Given the description of an element on the screen output the (x, y) to click on. 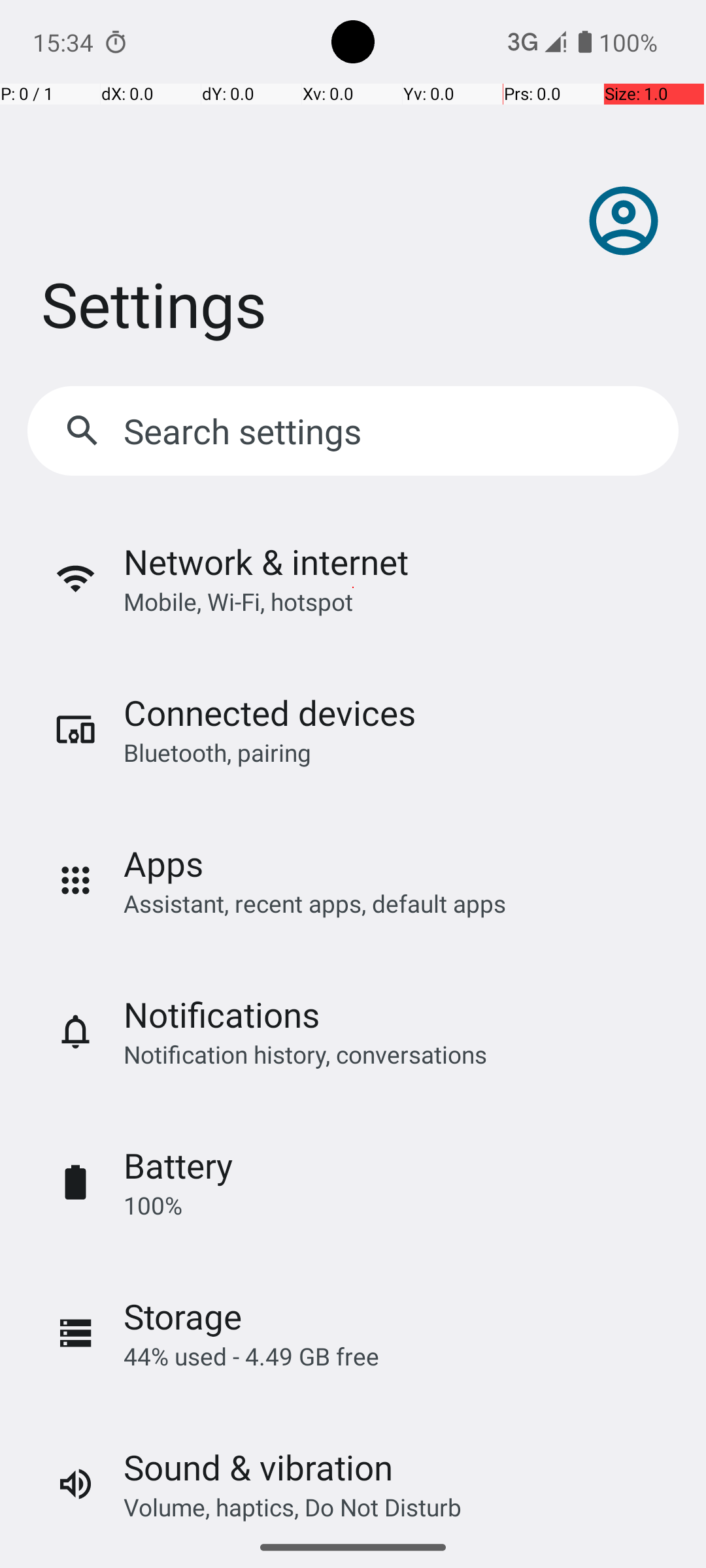
44% used - 4.49 GB free Element type: android.widget.TextView (251, 1355)
